Given the description of an element on the screen output the (x, y) to click on. 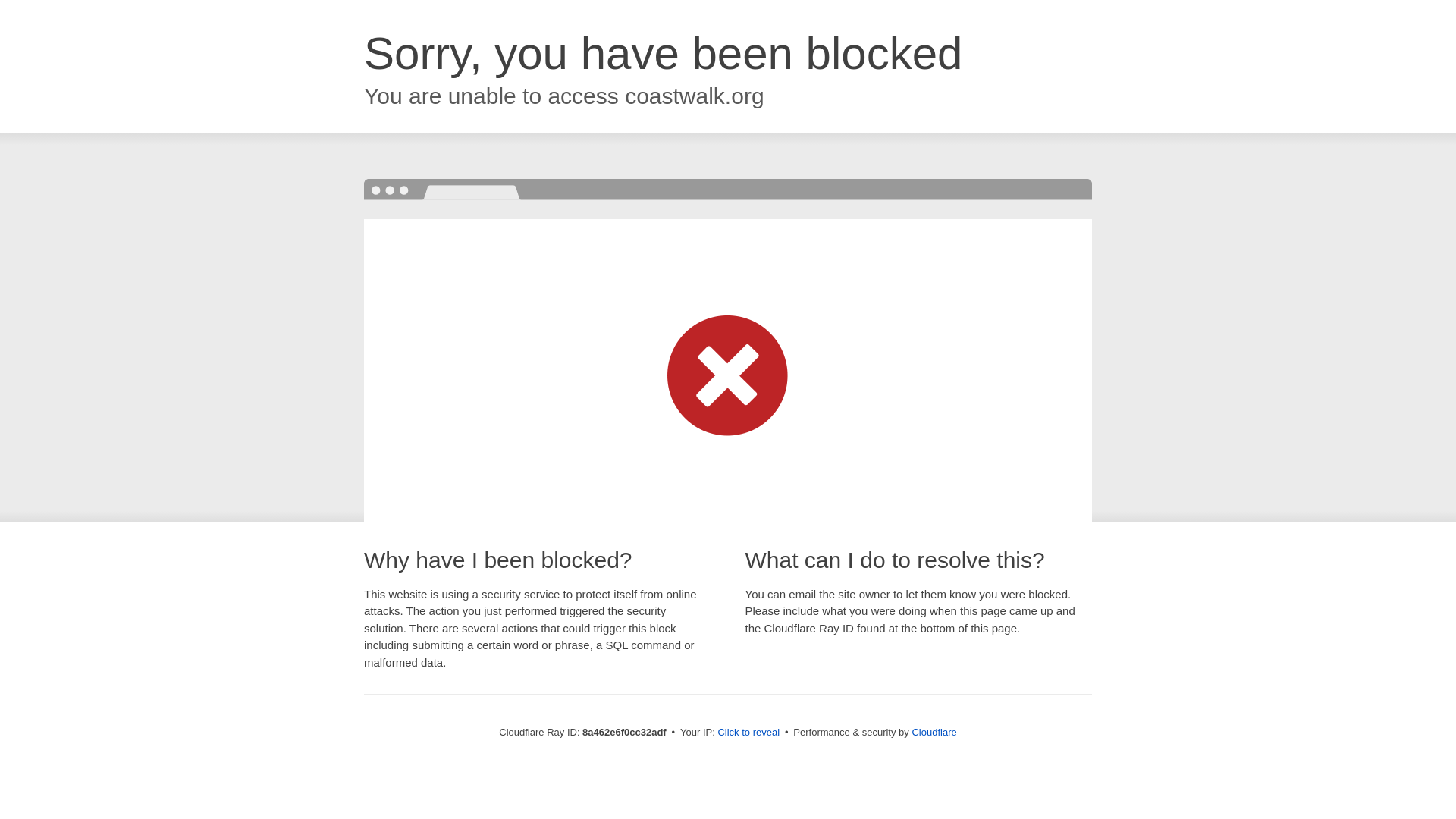
Click to reveal (747, 732)
Cloudflare (933, 731)
